Given the description of an element on the screen output the (x, y) to click on. 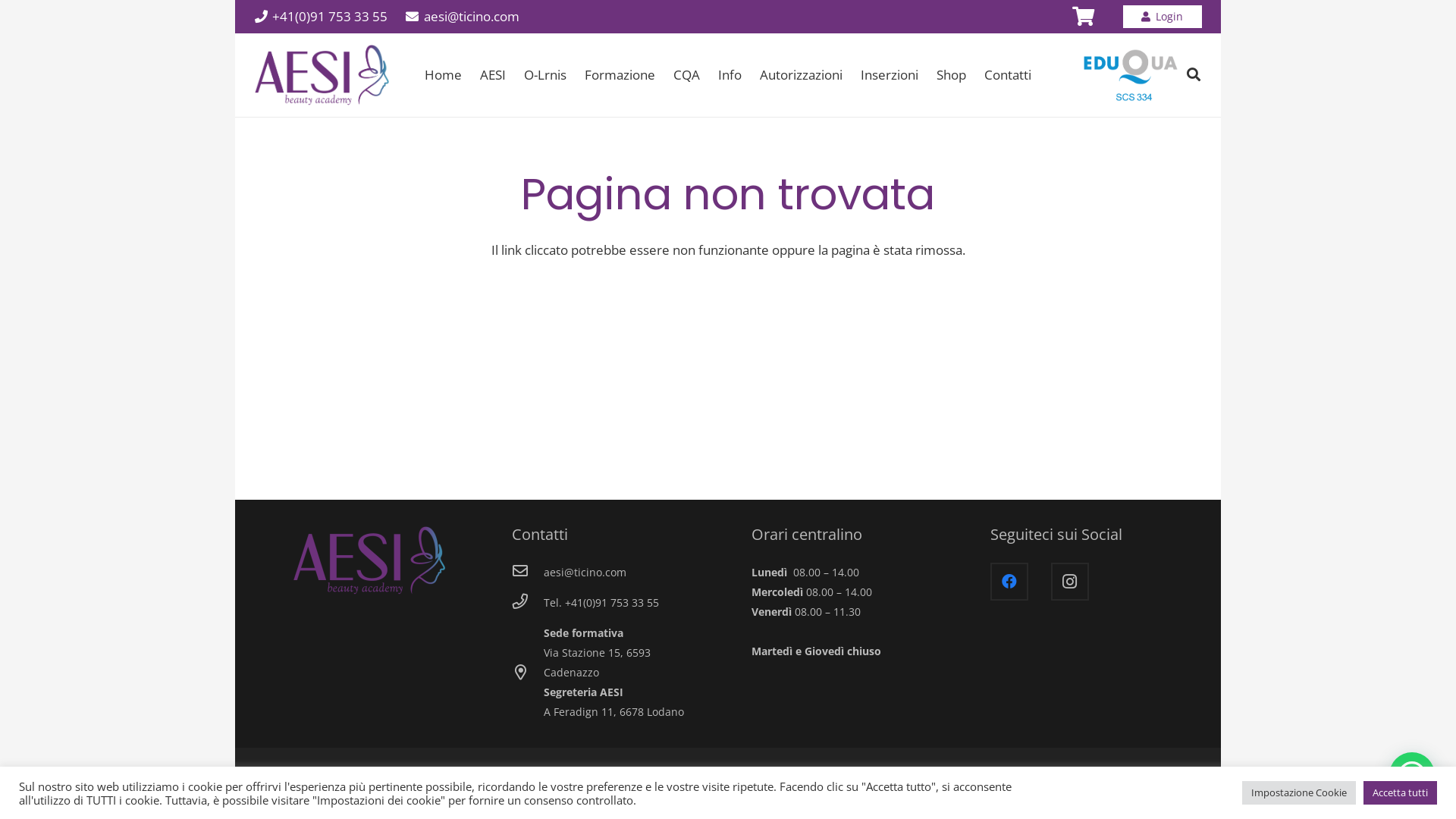
AESI Element type: text (492, 74)
Tel. +41(0)91 753 33 55 Element type: text (600, 602)
Accetta tutti Element type: text (1400, 792)
Info Element type: text (729, 74)
Inserzioni Element type: text (889, 74)
Contatti Element type: text (1007, 74)
Home Element type: text (442, 74)
dlcom Element type: text (327, 782)
Instagram Element type: hover (1069, 581)
aesi@ticino.com Element type: text (462, 16)
Normativa trattamento dati Element type: text (1113, 782)
aesi@ticino.com Element type: text (584, 572)
Impostazione Cookie Element type: text (1298, 792)
Login Element type: text (1162, 16)
O-Lrnis Element type: text (544, 74)
Shop Element type: text (951, 74)
Formazione Element type: text (619, 74)
CQA Element type: text (686, 74)
Autorizzazioni Element type: text (800, 74)
Facebook Element type: hover (1009, 581)
